Given the description of an element on the screen output the (x, y) to click on. 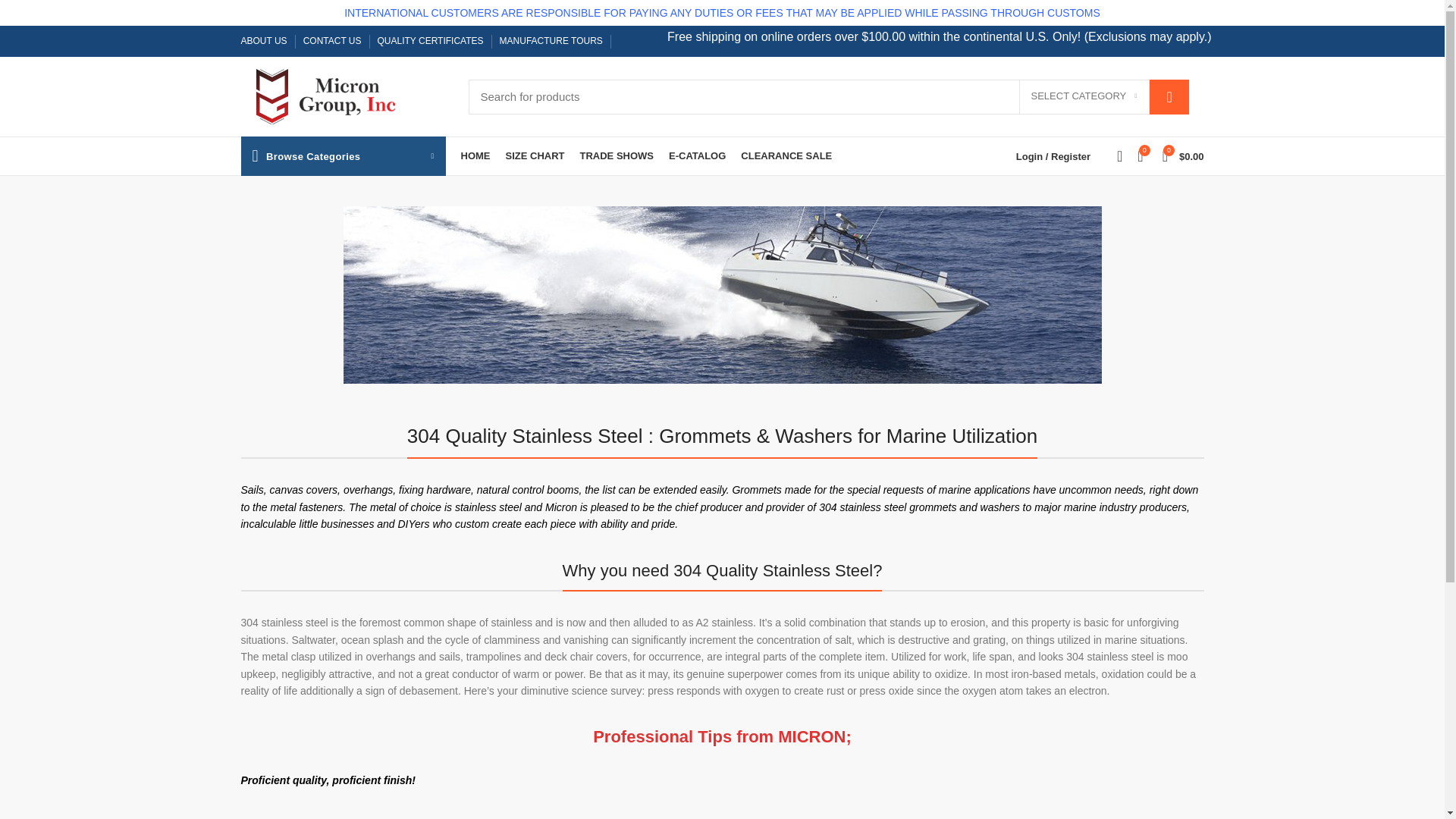
Search for products (828, 95)
QUALITY CERTIFICATES (430, 40)
MANUFACTURE TOURS (551, 40)
ABOUT US (263, 40)
CONTACT US (332, 40)
SELECT CATEGORY (1084, 96)
My account (1053, 155)
SELECT CATEGORY (1084, 96)
Shopping cart (1182, 155)
